Given the description of an element on the screen output the (x, y) to click on. 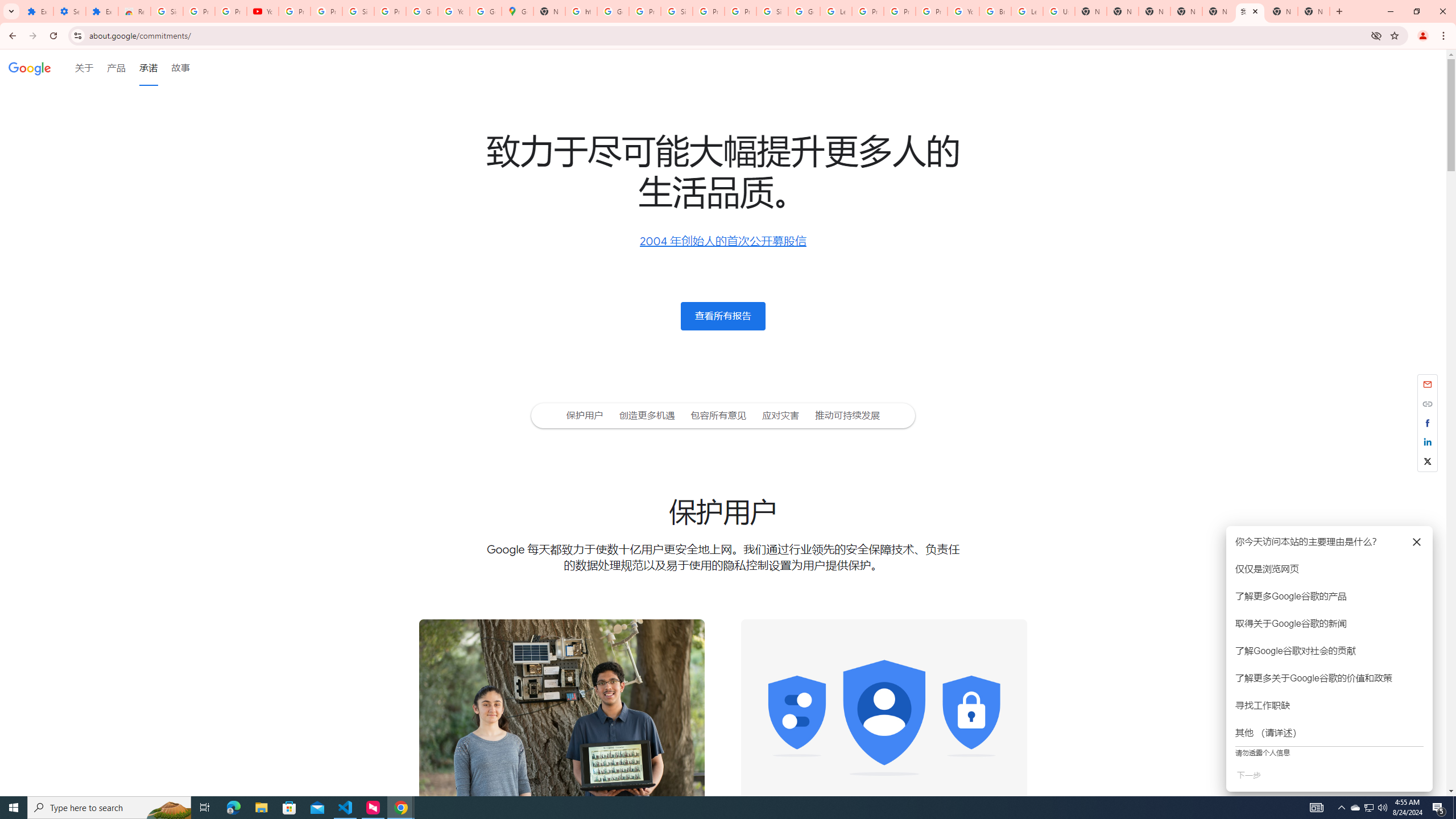
https://scholar.google.com/ (581, 11)
Sign in - Google Accounts (772, 11)
